Given the description of an element on the screen output the (x, y) to click on. 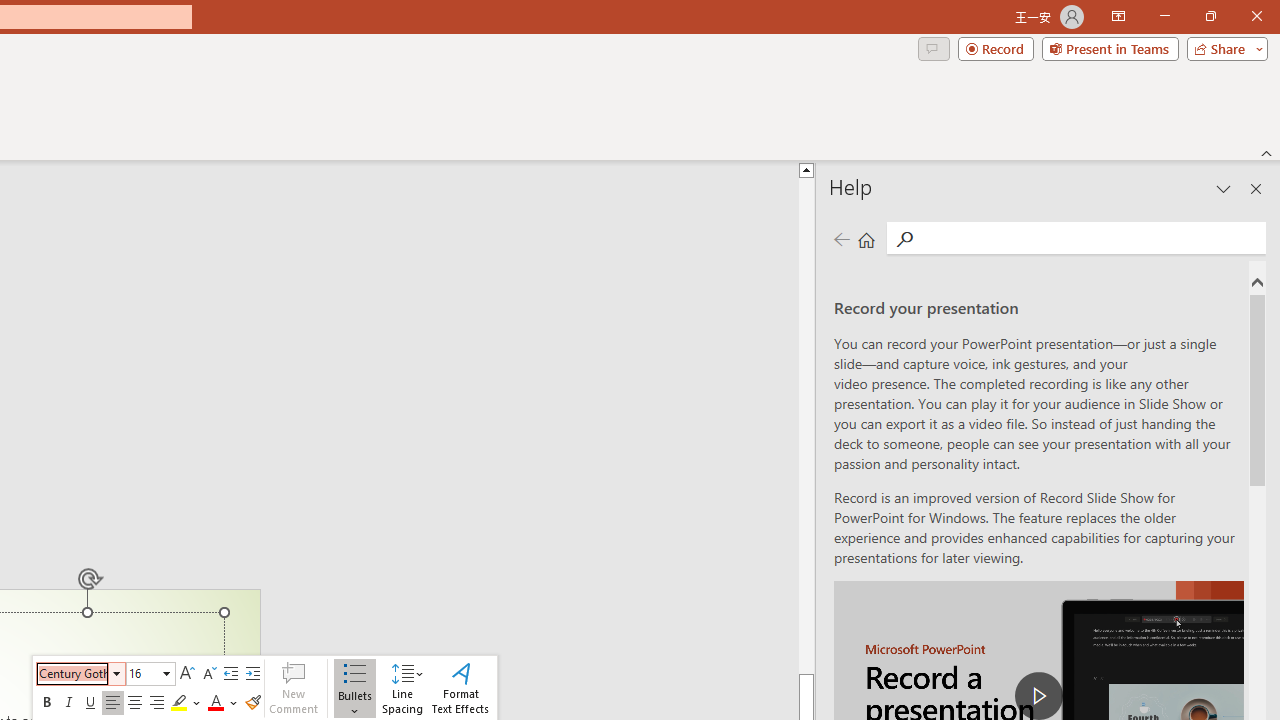
Class: NetUITextbox (141, 673)
New Comment (293, 687)
